Given the description of an element on the screen output the (x, y) to click on. 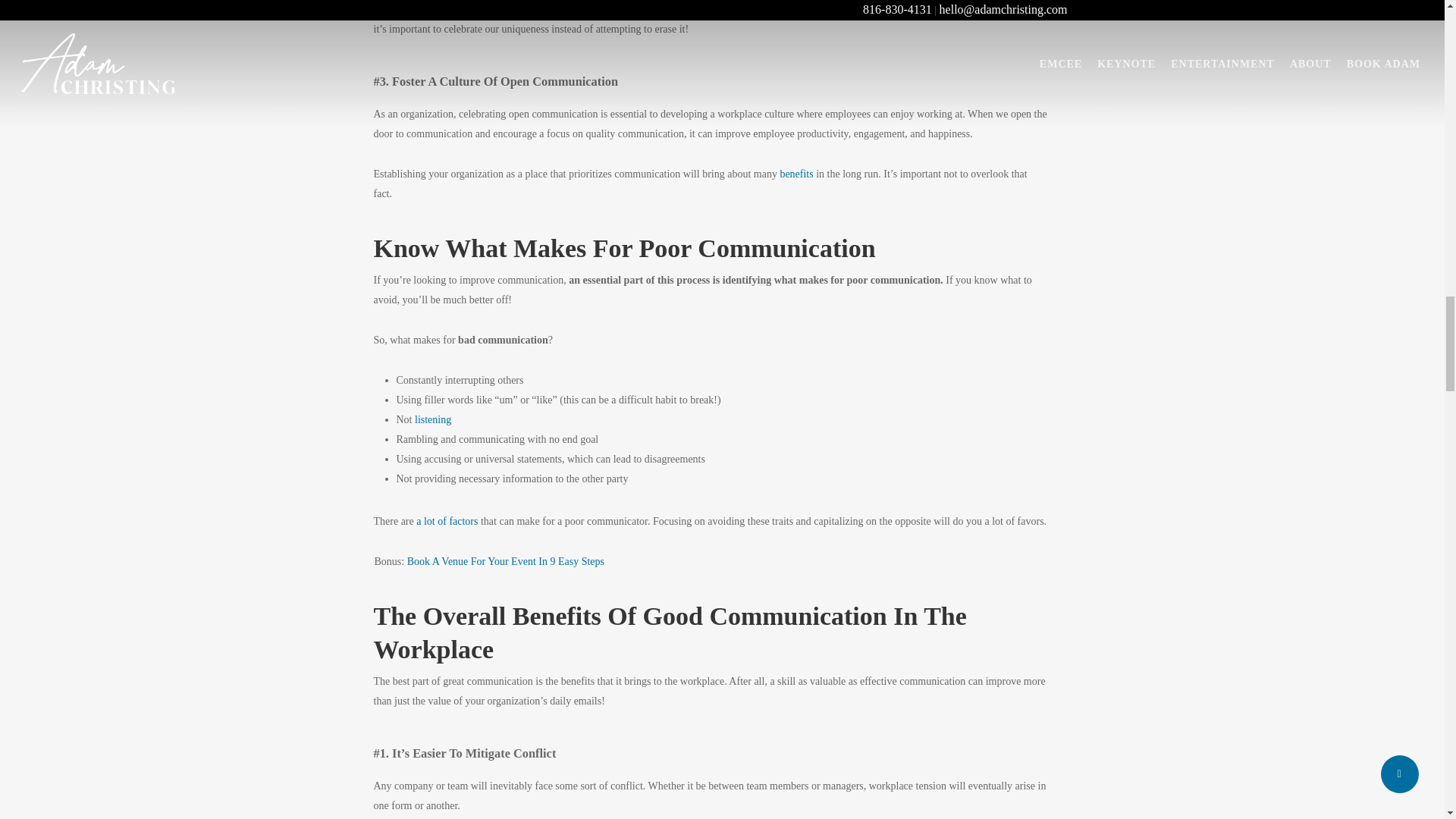
listening (432, 419)
Book A Venue For Your Event In 9 Easy Steps (505, 561)
a lot of factors (446, 521)
benefits (795, 173)
